Given the description of an element on the screen output the (x, y) to click on. 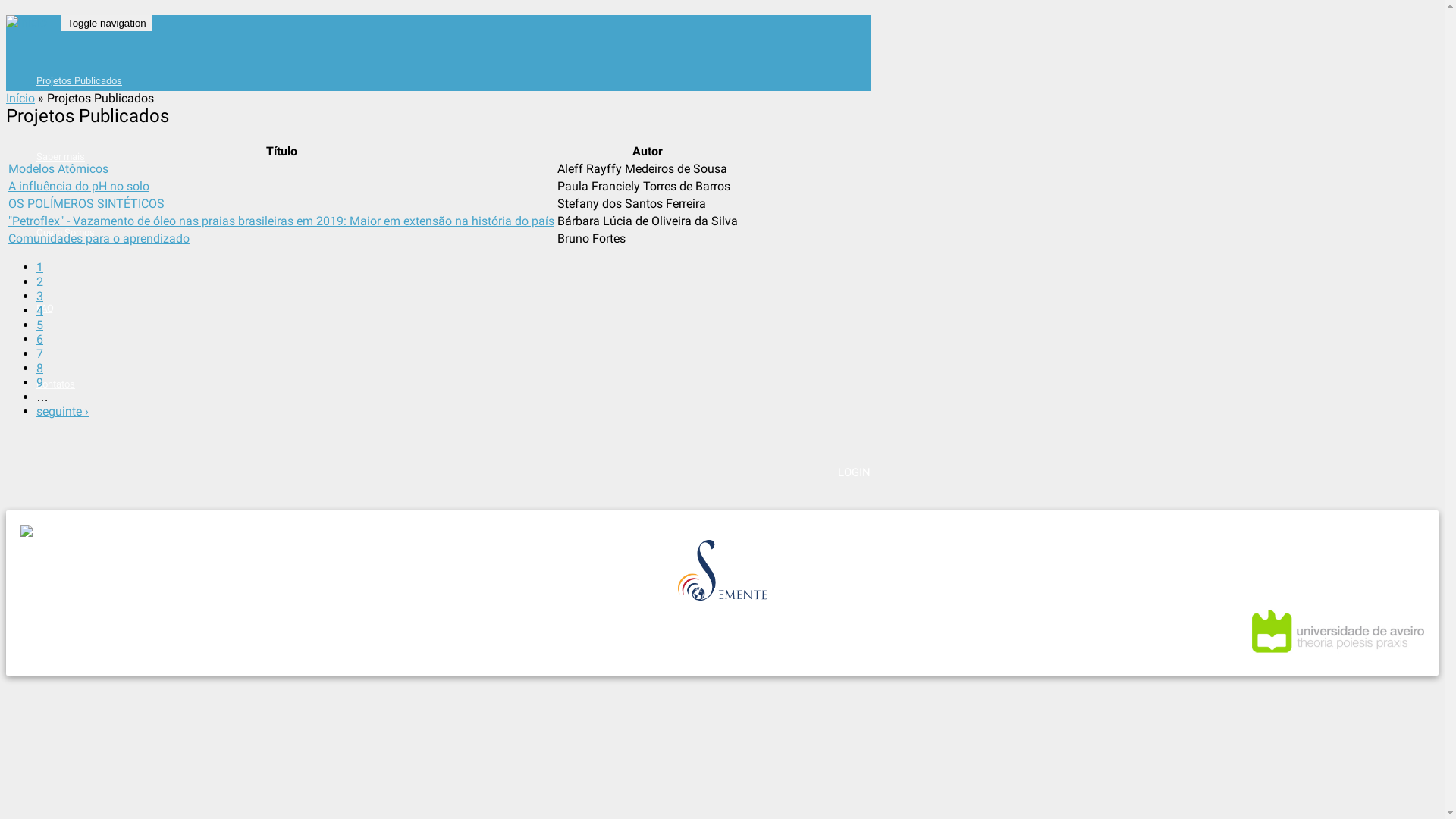
FAQ Element type: text (44, 307)
9 Element type: text (39, 382)
5 Element type: text (39, 324)
Quem Somos Element type: text (65, 232)
7 Element type: text (39, 353)
2 Element type: text (39, 281)
Toggle navigation Element type: text (106, 23)
6 Element type: text (39, 339)
LOGIN Element type: text (853, 472)
Projetos Publicados Element type: text (79, 80)
3 Element type: text (39, 295)
Comunidades para o aprendizado Element type: text (98, 238)
4 Element type: text (39, 310)
Saber mais Element type: text (60, 156)
Contatos Element type: text (55, 383)
8 Element type: text (39, 367)
1 Element type: text (39, 267)
